Given the description of an element on the screen output the (x, y) to click on. 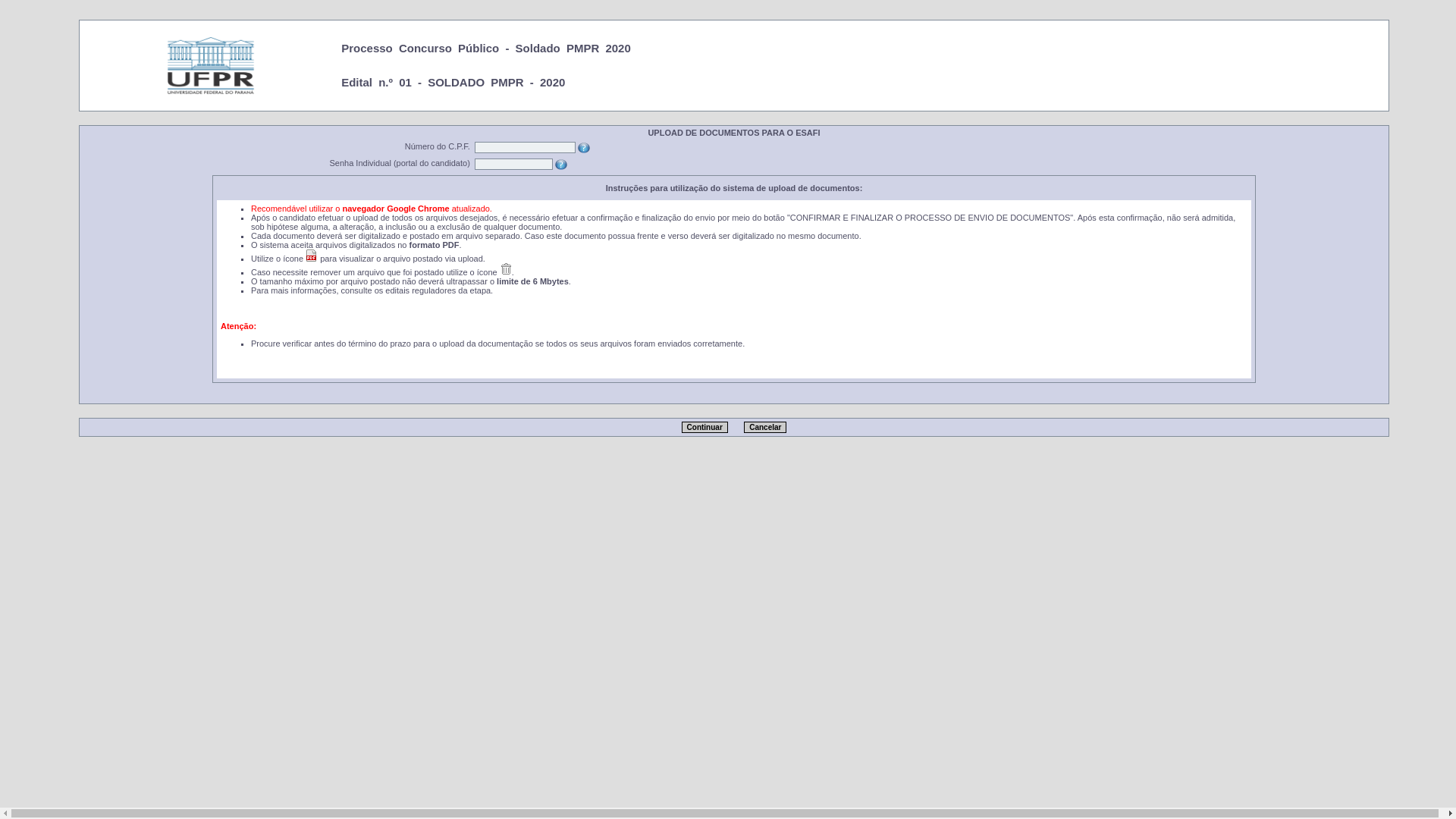
Cancelar Element type: text (764, 427)
Continuar Element type: text (704, 427)
